Given the description of an element on the screen output the (x, y) to click on. 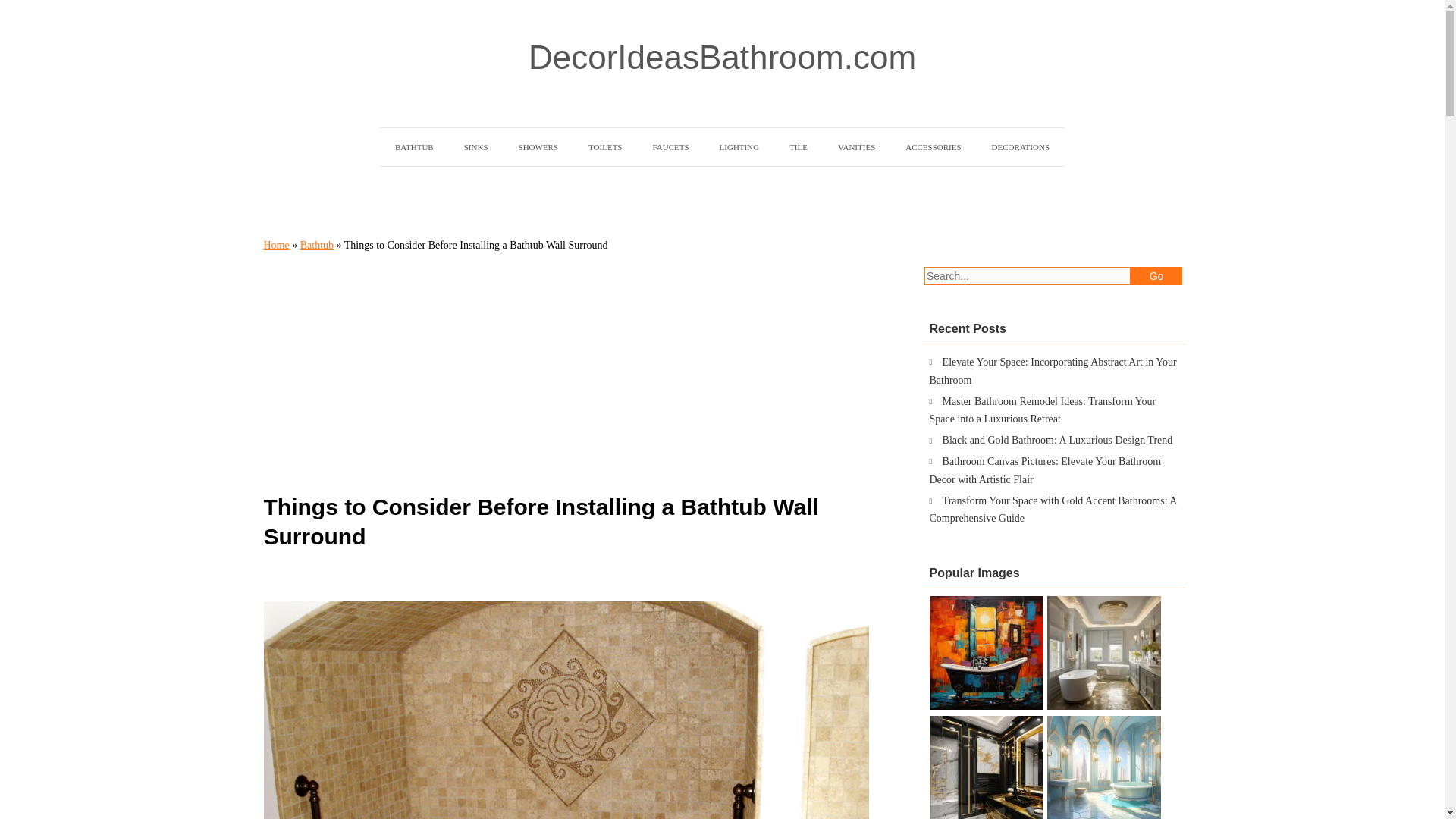
DecorIdeasBathroom.com (721, 57)
FAUCETS (670, 146)
Bathtub (316, 244)
ACCESSORIES (932, 146)
DECORATIONS (1020, 146)
TILE (798, 146)
SHOWERS (538, 146)
SINKS (475, 146)
BATHTUB (414, 146)
Go (1156, 275)
Home (276, 244)
VANITIES (855, 146)
LIGHTING (739, 146)
TOILETS (605, 146)
